Given the description of an element on the screen output the (x, y) to click on. 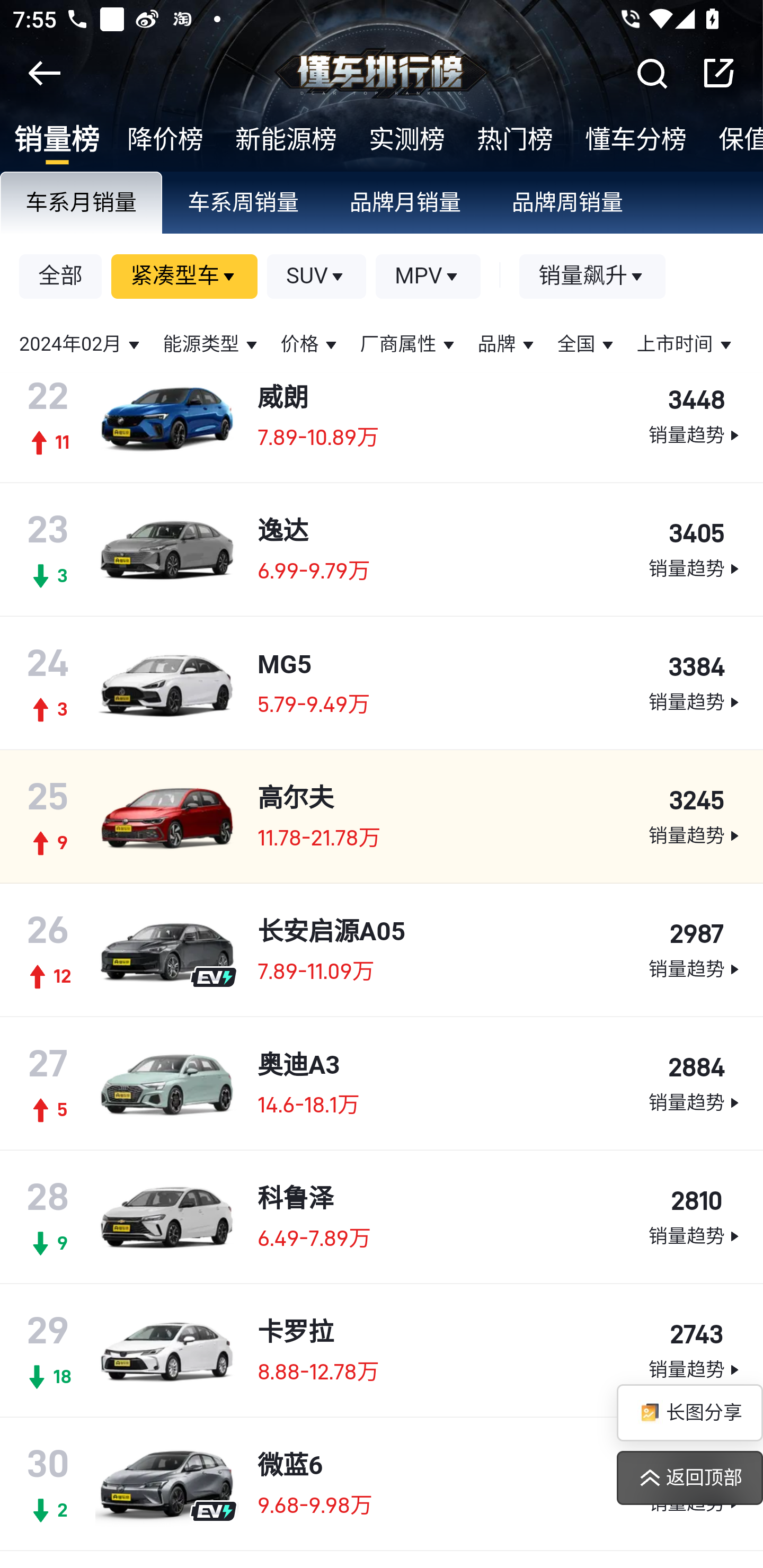
车系月销量 (81, 203)
车系周销量 (243, 203)
品牌月销量 (405, 203)
品牌周销量 (567, 203)
全部 (61, 276)
紧凑型车 (185, 276)
SUV (317, 276)
MPV (428, 276)
销量飙升 (592, 276)
2024年02月 (81, 344)
能源类型 (211, 344)
价格 (310, 344)
厂商属性 (409, 344)
品牌 (507, 344)
全国 (587, 344)
上市时间 (685, 344)
22 11 威朗 7.89-10.89万 3448 销量趋势 (381, 415)
3448 销量趋势 (695, 416)
23 3 逸达 6.99-9.79万 3405 销量趋势 (381, 548)
3405 销量趋势 (695, 549)
24 3 MG5 5.79-9.49万 3384 销量趋势 (381, 681)
3384 销量趋势 (695, 683)
25 9 高尔夫 11.78-21.78万 3245 销量趋势 (381, 815)
3245 销量趋势 (695, 816)
2987 销量趋势 (695, 949)
27 5 奥迪A3 14.6-18.1万 2884 销量趋势 (381, 1083)
2884 销量趋势 (695, 1083)
28 9 科鲁泽 6.49-7.89万 2810 销量趋势 (381, 1216)
2810 销量趋势 (695, 1217)
29 18 卡罗拉 8.88-12.78万 2743 销量趋势 (381, 1349)
2743 销量趋势 (695, 1350)
长图分享 (688, 1412)
返回顶部 (688, 1477)
